Given the description of an element on the screen output the (x, y) to click on. 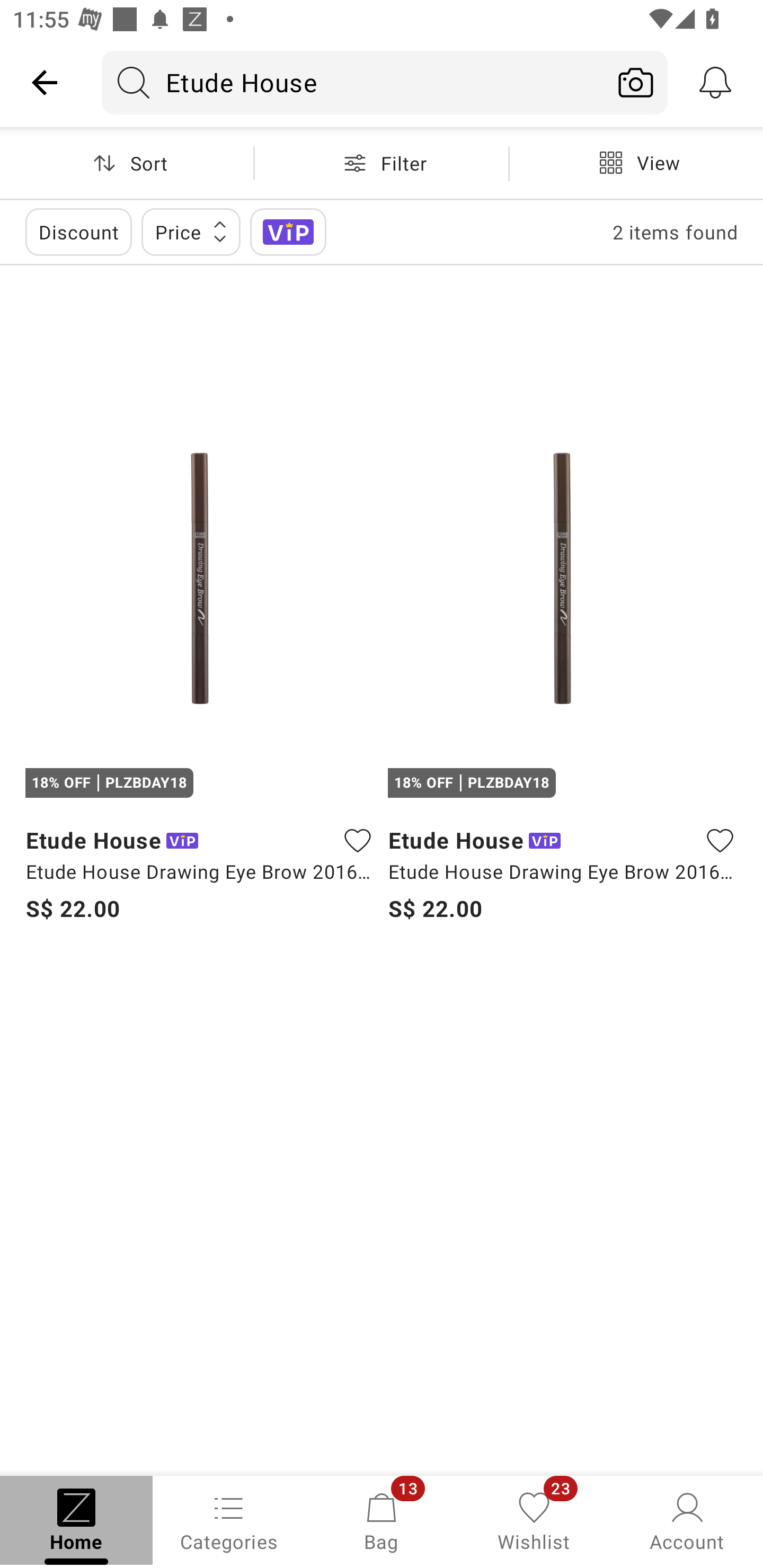
Navigate up (44, 82)
Etude House (352, 82)
Sort (126, 163)
Filter (381, 163)
View (636, 163)
Discount (78, 231)
Price (190, 231)
Categories (228, 1519)
Bag, 13 new notifications Bag (381, 1519)
Wishlist, 23 new notifications Wishlist (533, 1519)
Account (686, 1519)
